Given the description of an element on the screen output the (x, y) to click on. 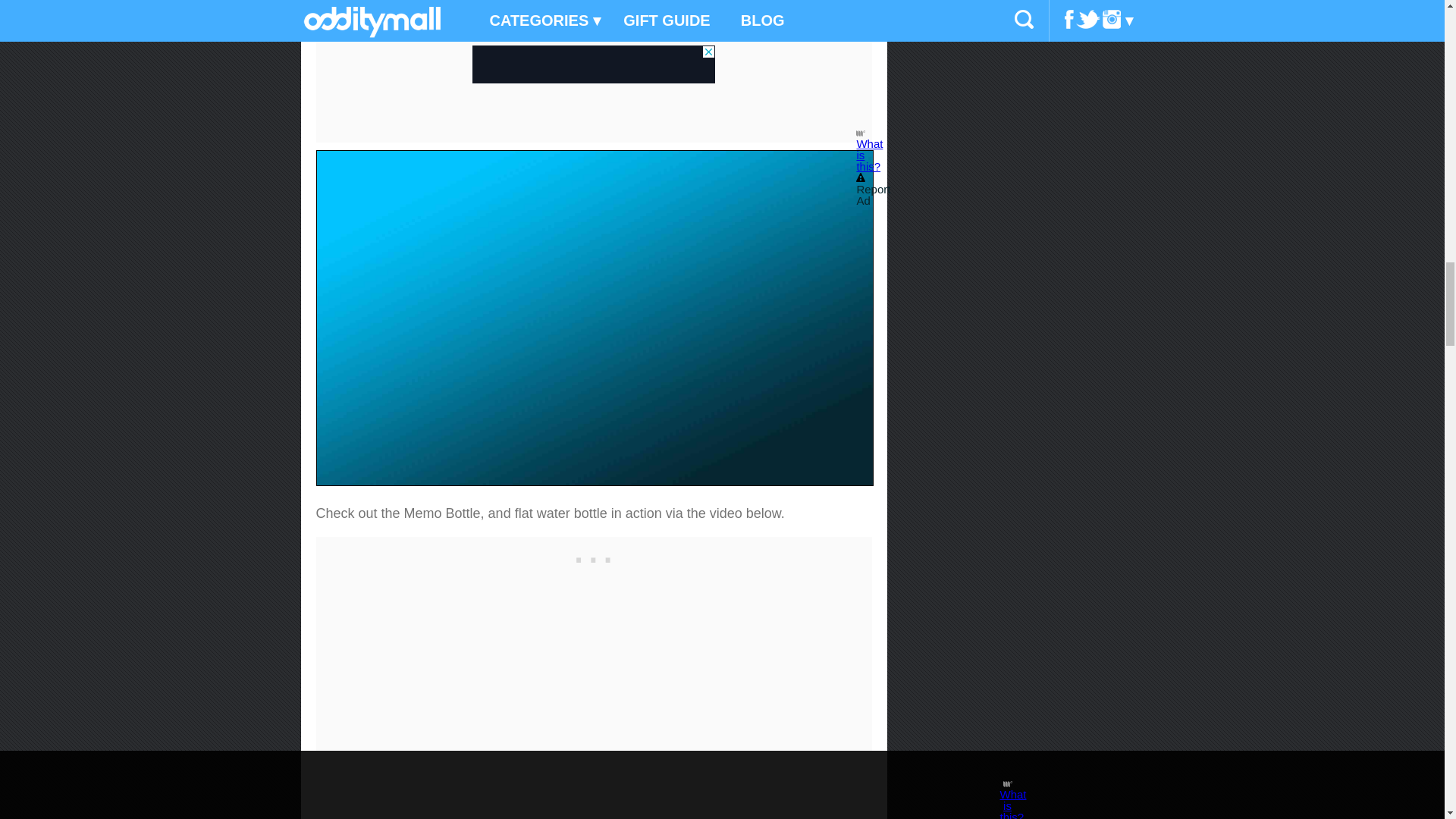
3rd party ad content (592, 555)
